Given the description of an element on the screen output the (x, y) to click on. 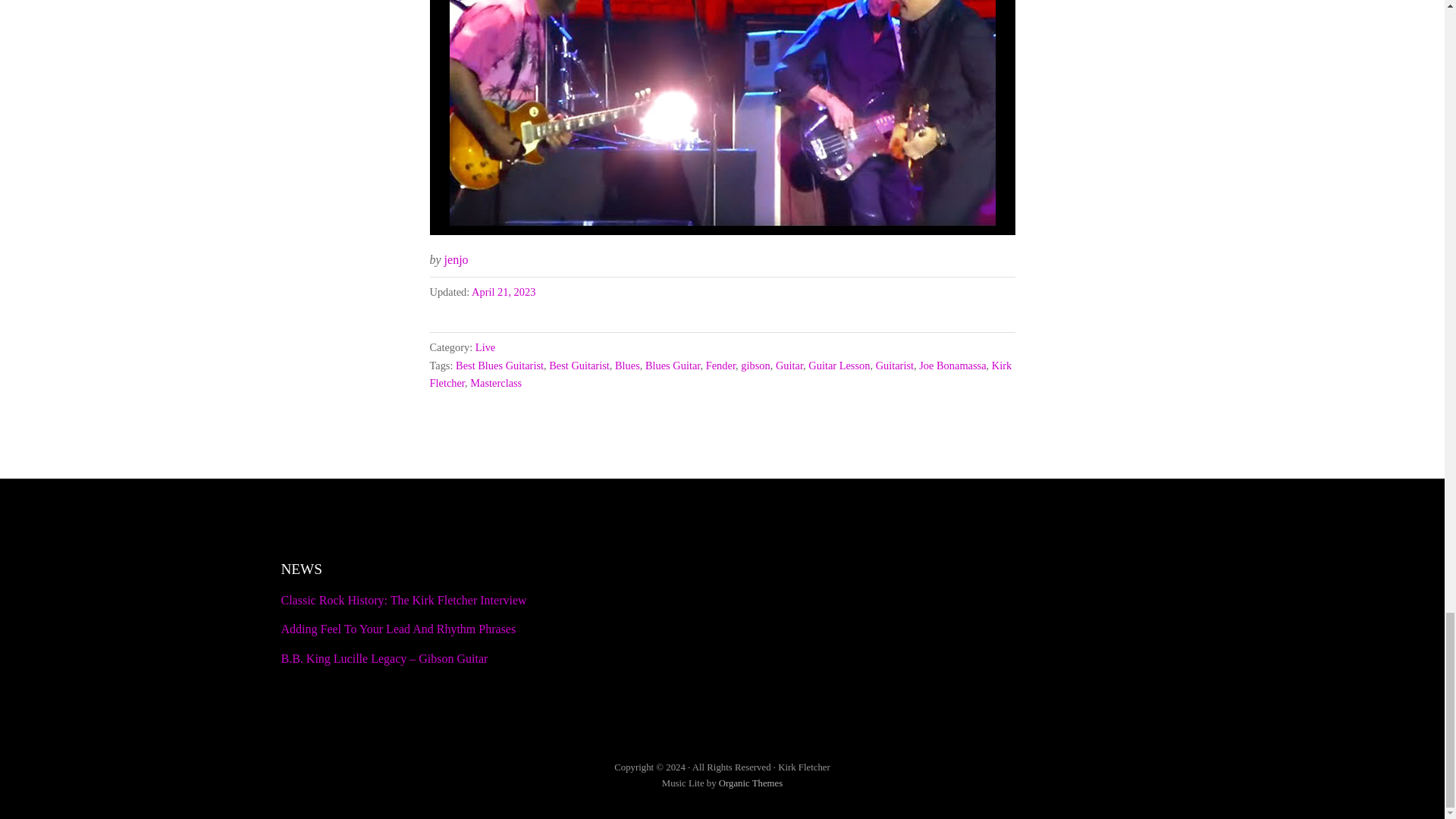
4:00 PM (503, 291)
Posts by jenjo (456, 259)
